Given the description of an element on the screen output the (x, y) to click on. 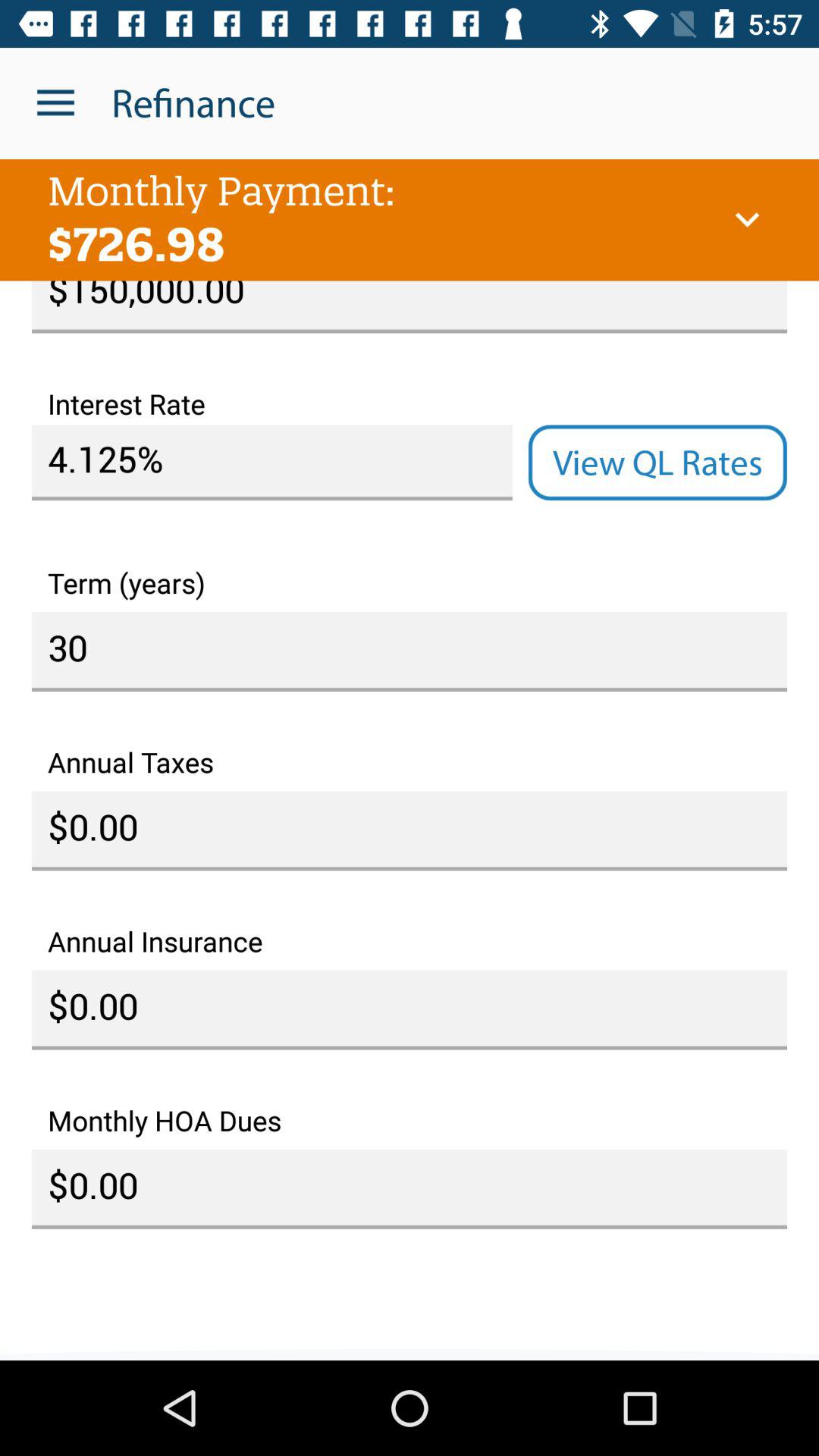
press the icon above the annual taxes item (409, 651)
